Given the description of an element on the screen output the (x, y) to click on. 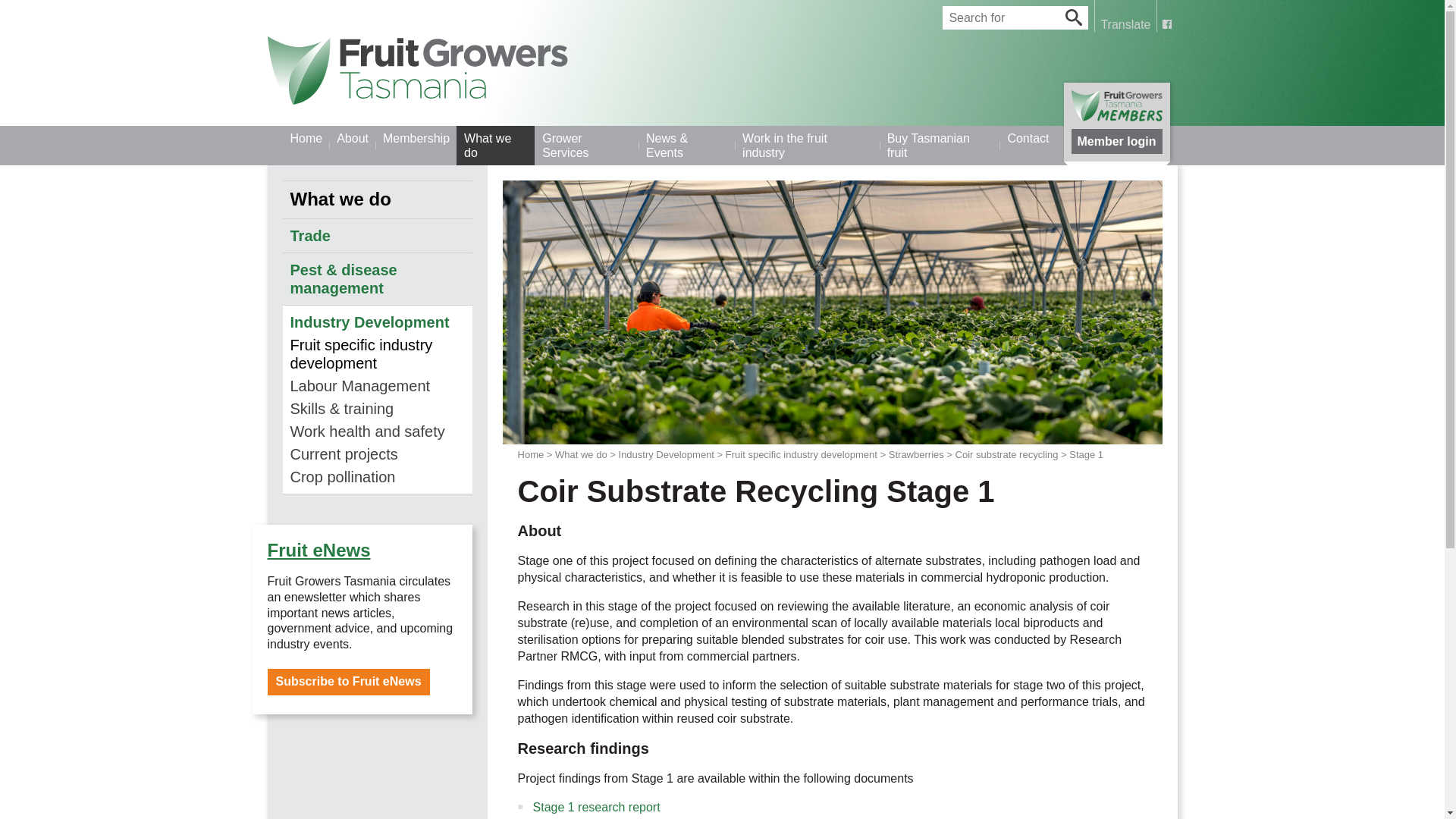
Facebook (1165, 23)
Translate (1125, 15)
Search (1073, 17)
